Given the description of an element on the screen output the (x, y) to click on. 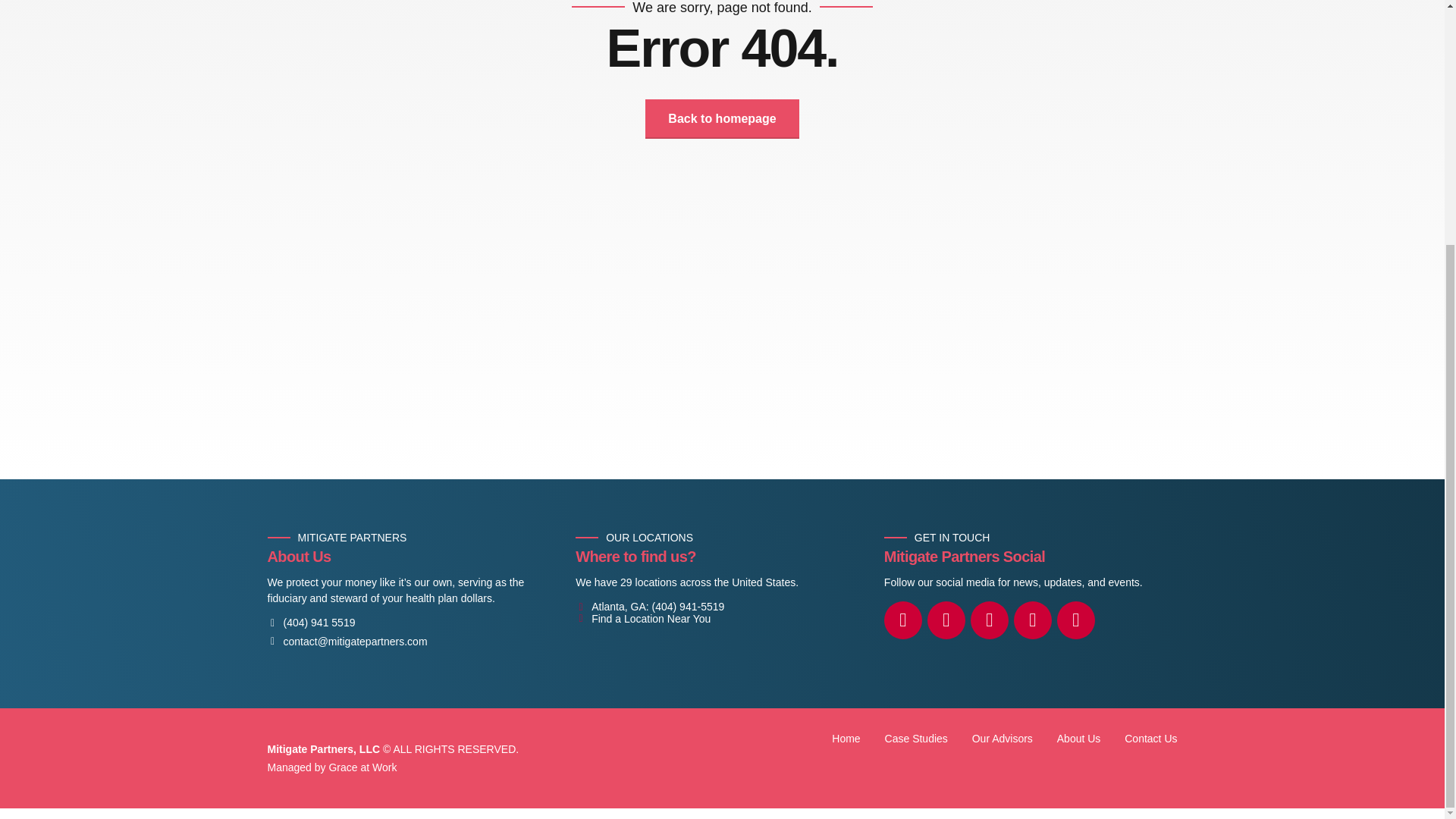
Find a Location Near You (642, 618)
Find a Location Near You (642, 618)
Back to homepage (721, 118)
